Given the description of an element on the screen output the (x, y) to click on. 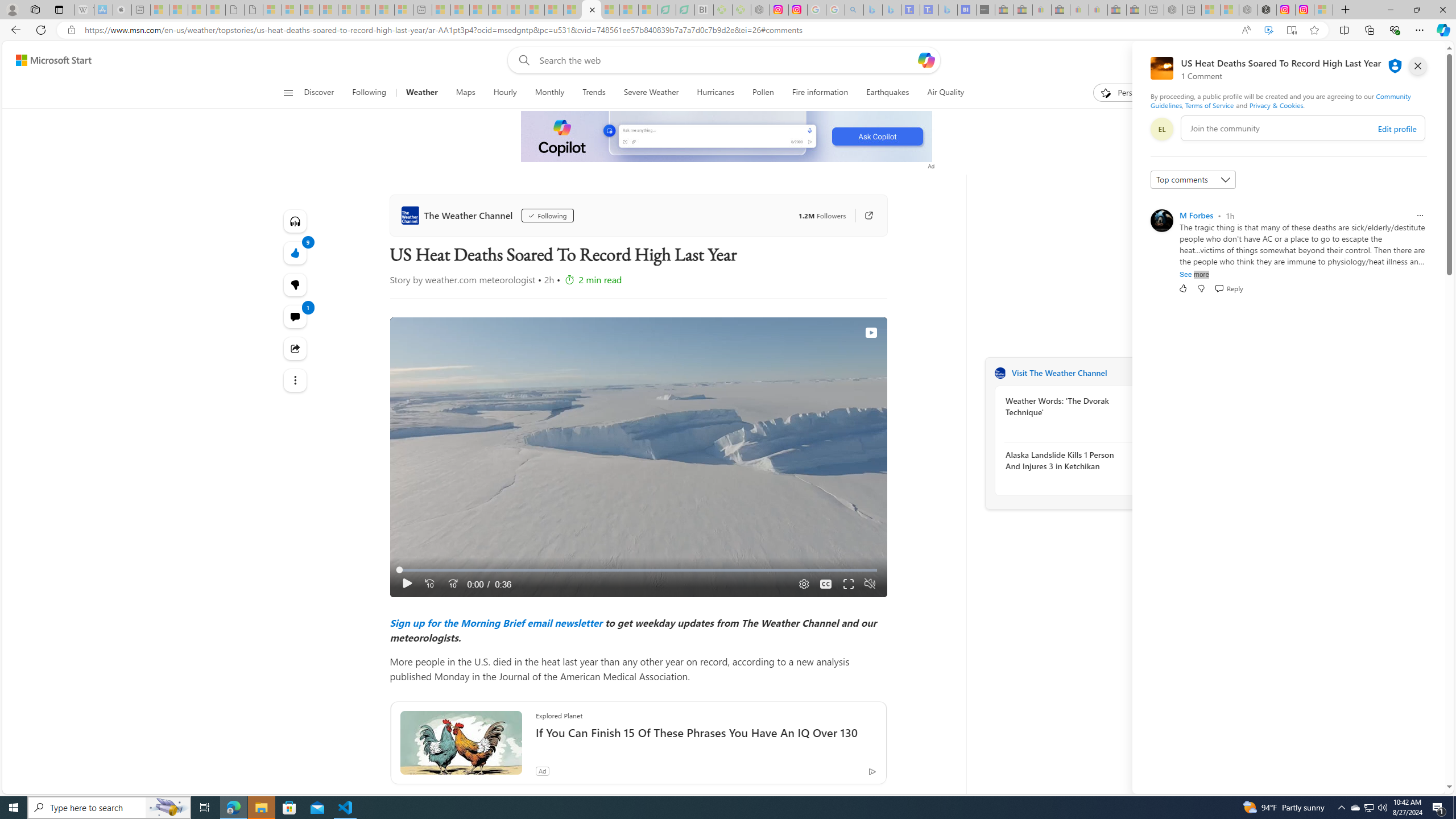
Alaska Landslide Kills 1 Person And Injures 3 in Ketchikan (1066, 459)
Profile Picture (1161, 220)
